Given the description of an element on the screen output the (x, y) to click on. 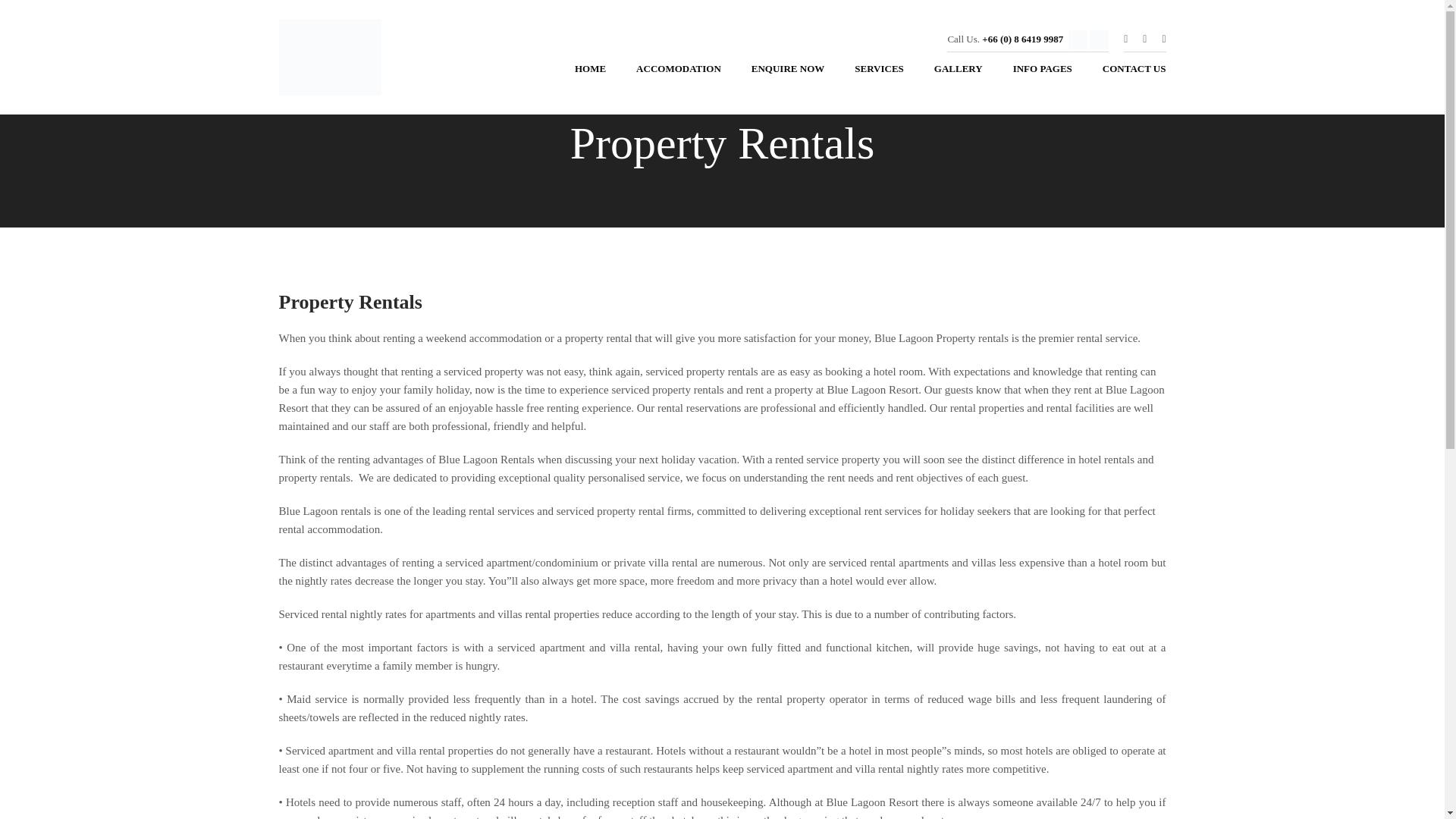
GALLERY (957, 72)
ENQUIRE NOW (788, 72)
INFO PAGES (1042, 72)
ACCOMODATION (678, 72)
SERVICES (879, 72)
HOME (590, 72)
